Given the description of an element on the screen output the (x, y) to click on. 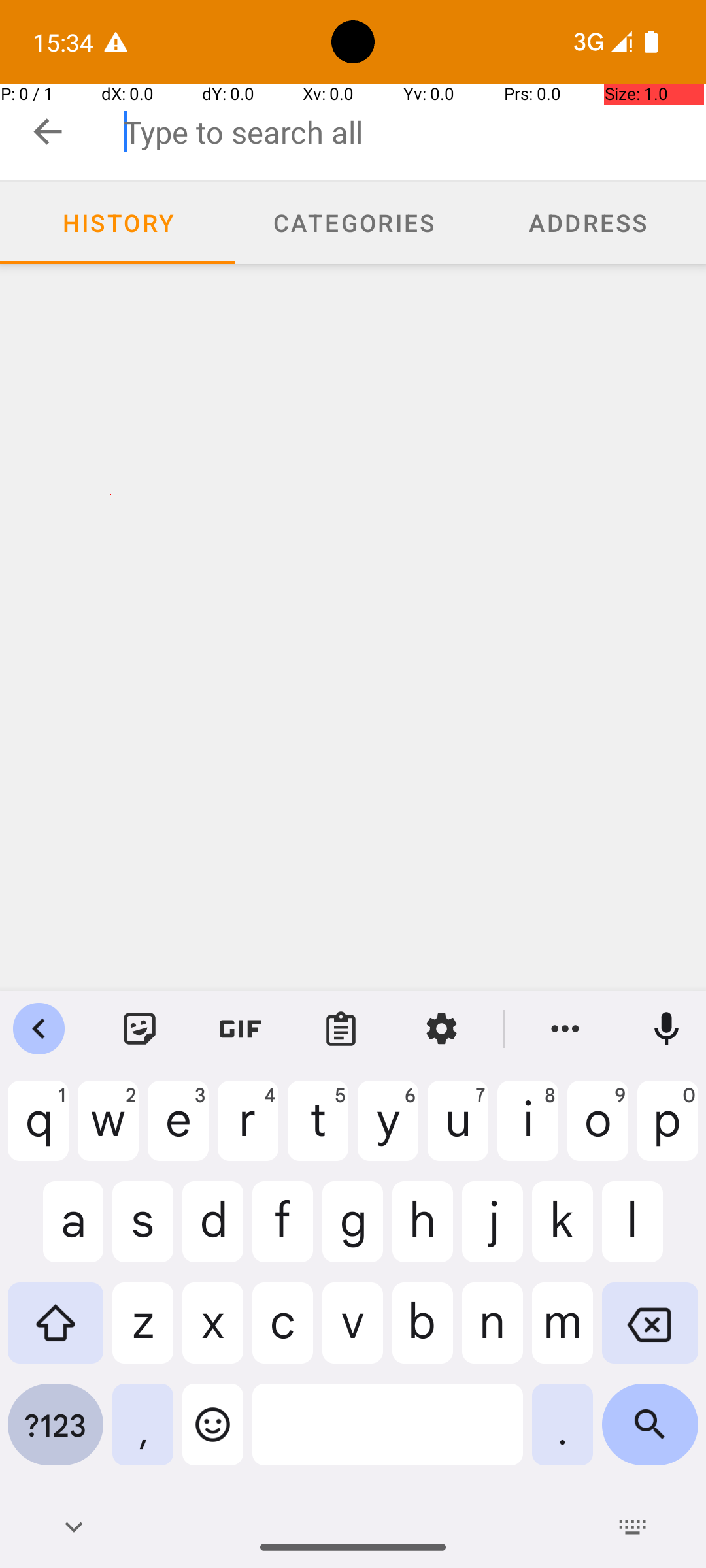
Type to search all Element type: android.widget.EditText (414, 131)
History Element type: android.widget.LinearLayout (117, 222)
Categories Element type: android.widget.LinearLayout (352, 222)
Address Element type: android.widget.LinearLayout (588, 222)
HISTORY Element type: android.widget.TextView (117, 222)
CATEGORIES Element type: android.widget.TextView (352, 222)
ADDRESS Element type: android.widget.TextView (587, 222)
